Given the description of an element on the screen output the (x, y) to click on. 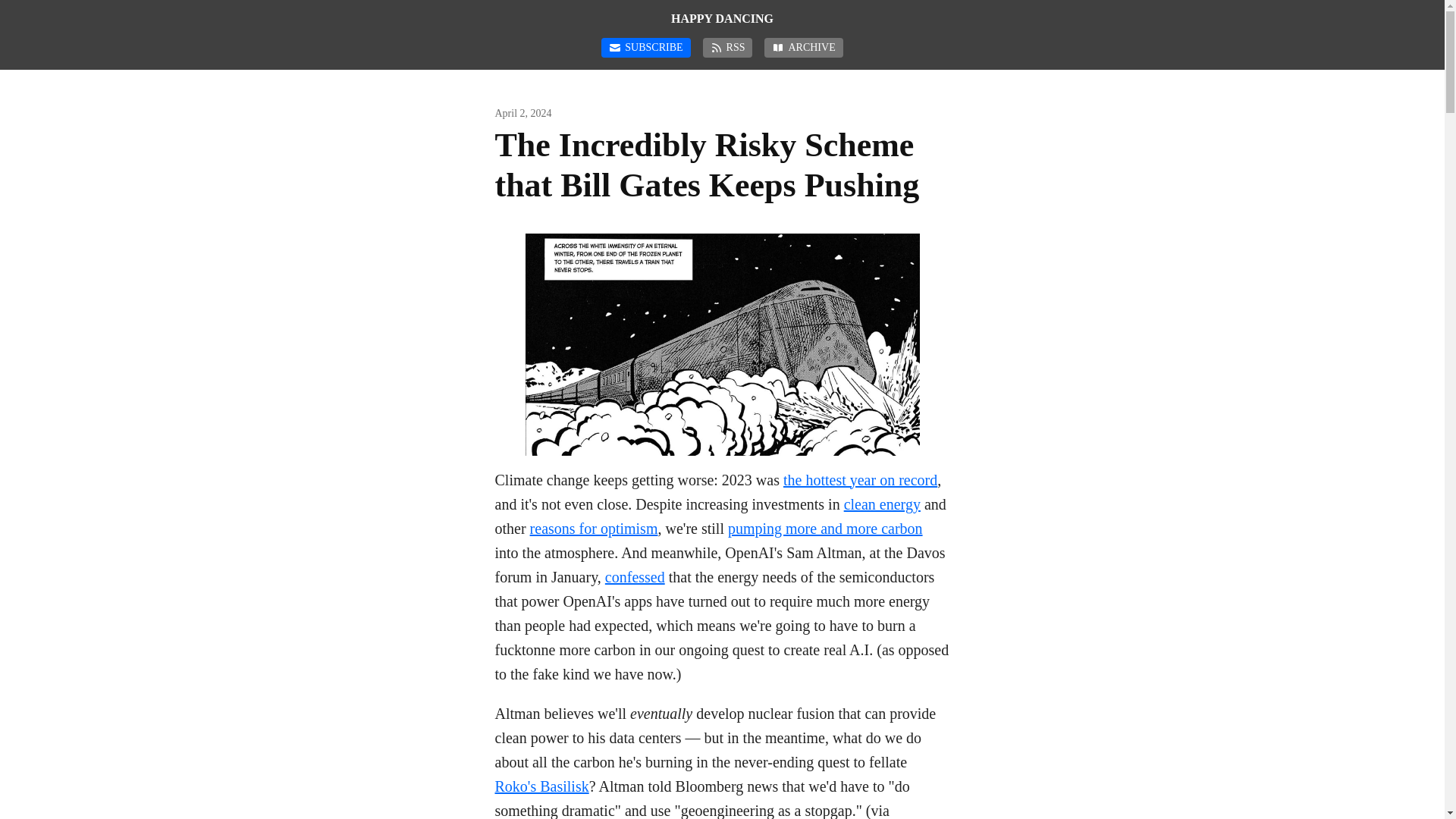
confessed (635, 576)
reasons for optimism (593, 528)
the hottest year on record (860, 479)
SUBSCRIBE (645, 47)
clean energy (882, 504)
RSS (727, 47)
ARCHIVE (803, 47)
Roko's Basilisk (541, 786)
HAPPY DANCING (722, 18)
pumping more and more carbon (825, 528)
